Given the description of an element on the screen output the (x, y) to click on. 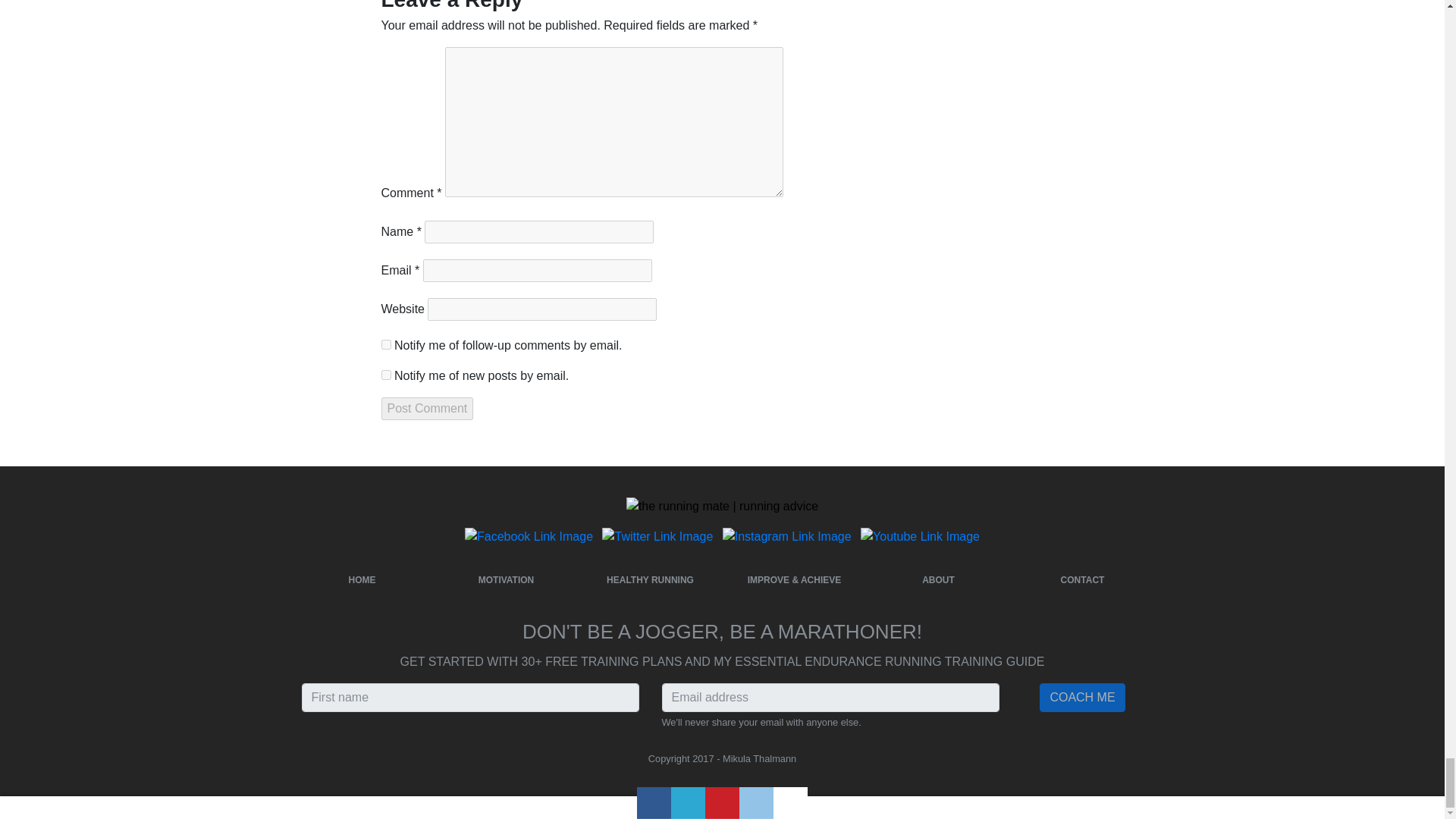
Post Comment (426, 408)
subscribe (385, 344)
subscribe (385, 375)
COACH ME (1081, 697)
Post Comment (426, 408)
